Given the description of an element on the screen output the (x, y) to click on. 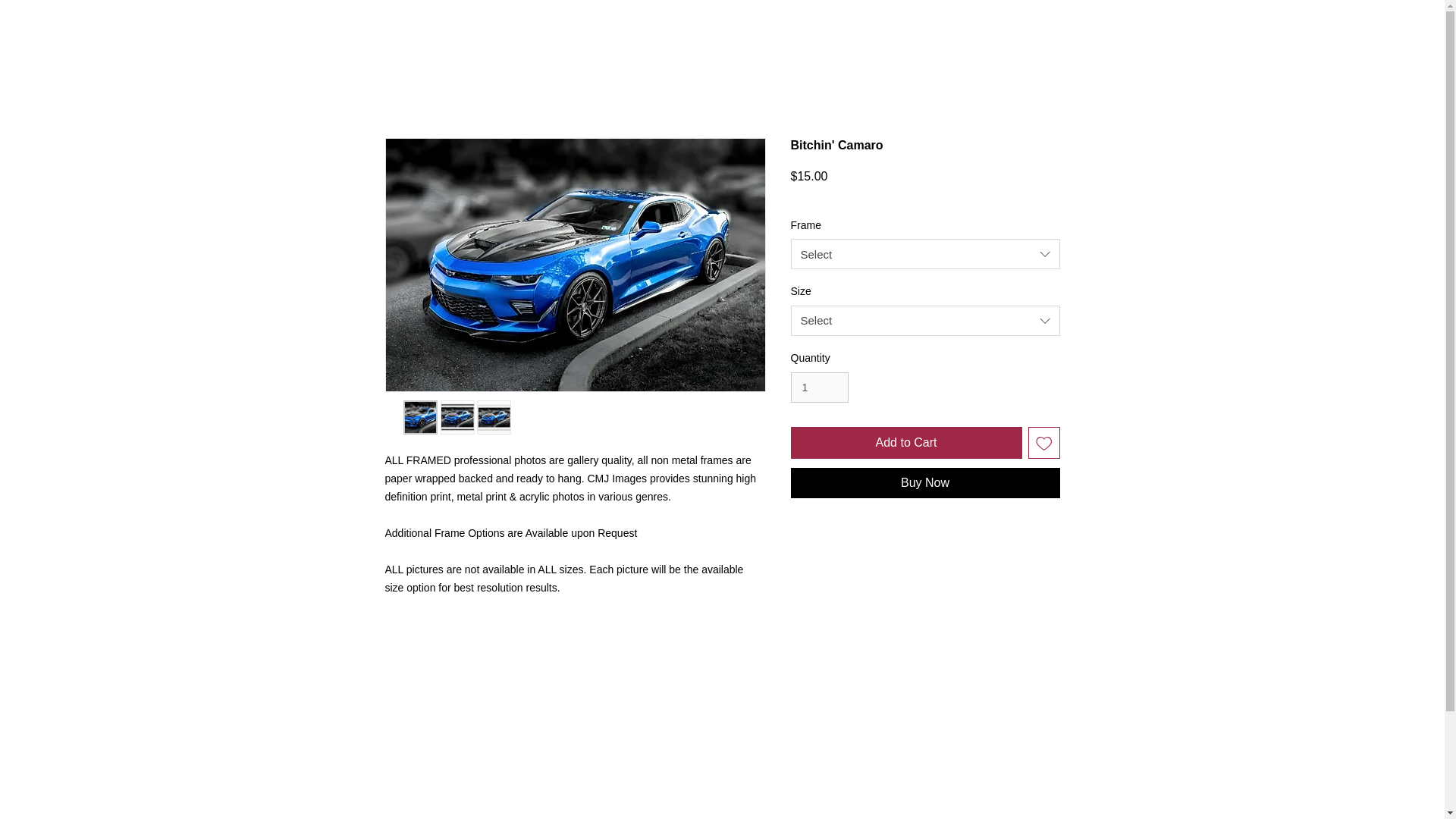
Select (924, 254)
Buy Now (924, 482)
1 (818, 387)
Return Policy (924, 678)
Select (924, 320)
Shipping Info (924, 543)
Add to Cart (906, 442)
